Given the description of an element on the screen output the (x, y) to click on. 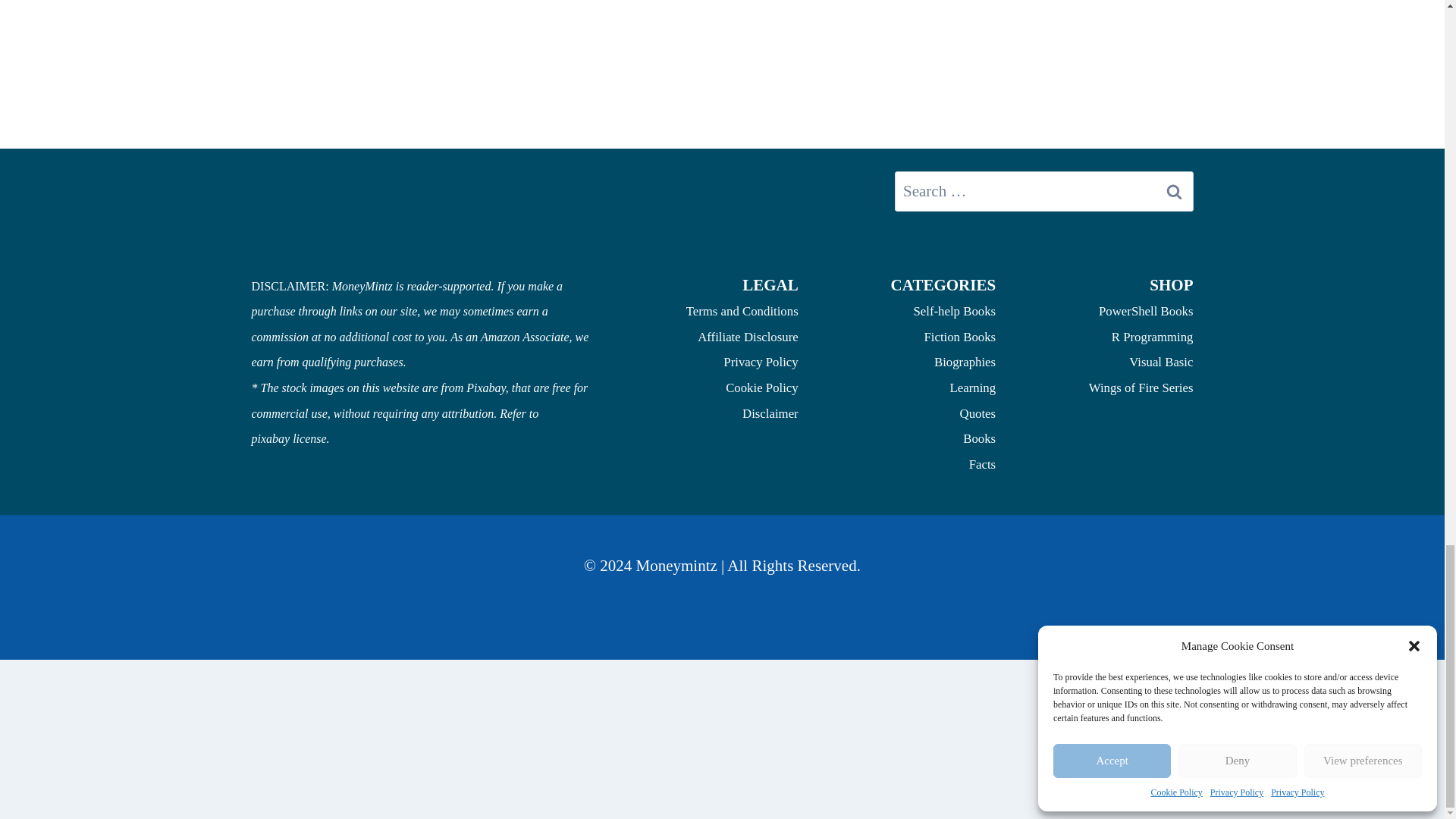
Search (1174, 190)
Privacy Policy (760, 361)
Search (1174, 190)
Disclaimer (769, 413)
Self-help Books (953, 310)
Advertisement (721, 106)
Affiliate Disclosure (747, 336)
Advertisement (721, 701)
license. (310, 438)
Terms and Conditions (741, 310)
Cookie Policy (761, 387)
Search (1174, 190)
Advertisement (721, 776)
